Given the description of an element on the screen output the (x, y) to click on. 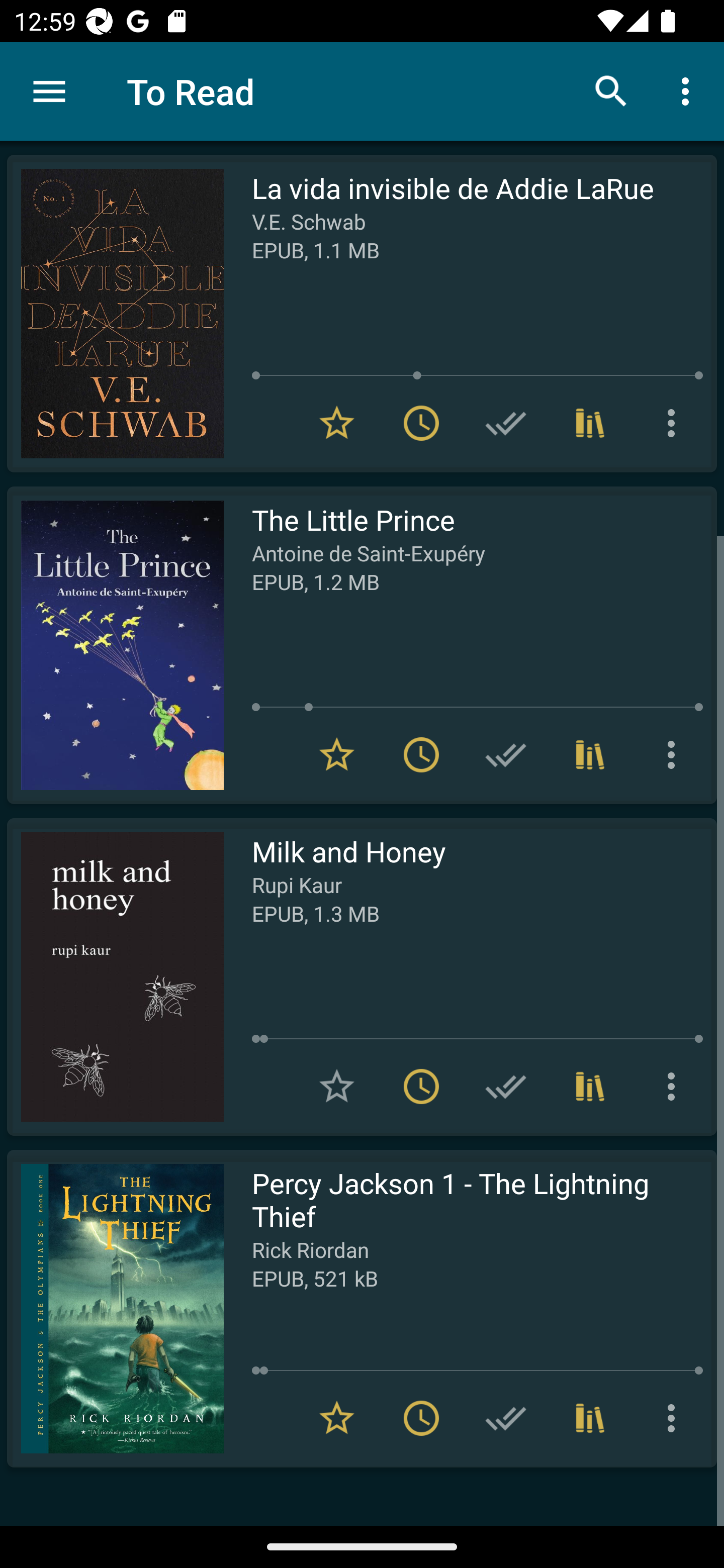
Menu (49, 91)
Search books & documents (611, 90)
More options (688, 90)
Read La vida invisible de Addie LaRue (115, 313)
Remove from Favorites (336, 423)
Remove from To read (421, 423)
Add to Have read (505, 423)
Collections (1) (590, 423)
More options (674, 423)
Read The Little Prince (115, 645)
Remove from Favorites (336, 753)
Remove from To read (421, 753)
Add to Have read (505, 753)
Collections (1) (590, 753)
More options (674, 753)
Read Milk and Honey (115, 976)
Add to Favorites (336, 1086)
Remove from To read (421, 1086)
Add to Have read (505, 1086)
Collections (3) (590, 1086)
More options (674, 1086)
Read Percy Jackson 1 - The Lightning Thief (115, 1308)
Remove from Favorites (336, 1417)
Remove from To read (421, 1417)
Add to Have read (505, 1417)
Collections (1) (590, 1417)
More options (674, 1417)
